Given the description of an element on the screen output the (x, y) to click on. 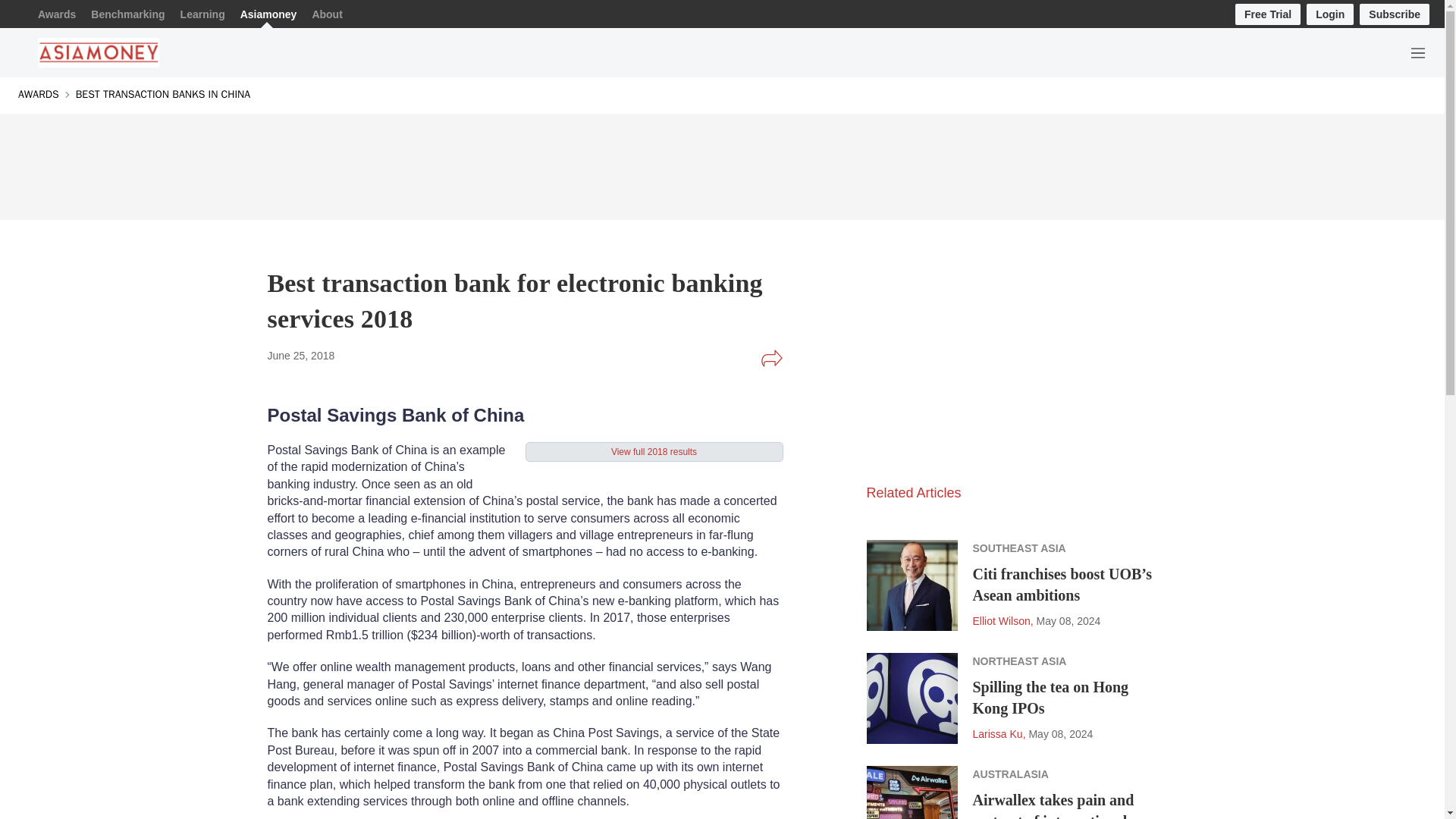
Subscribe (1394, 13)
Login (1329, 13)
Learning (202, 13)
3rd party ad content (721, 162)
Benchmarking (127, 13)
Free Trial (1267, 13)
Asiamoney (268, 13)
Awards (56, 13)
3rd party ad content (979, 375)
Share (771, 358)
